Given the description of an element on the screen output the (x, y) to click on. 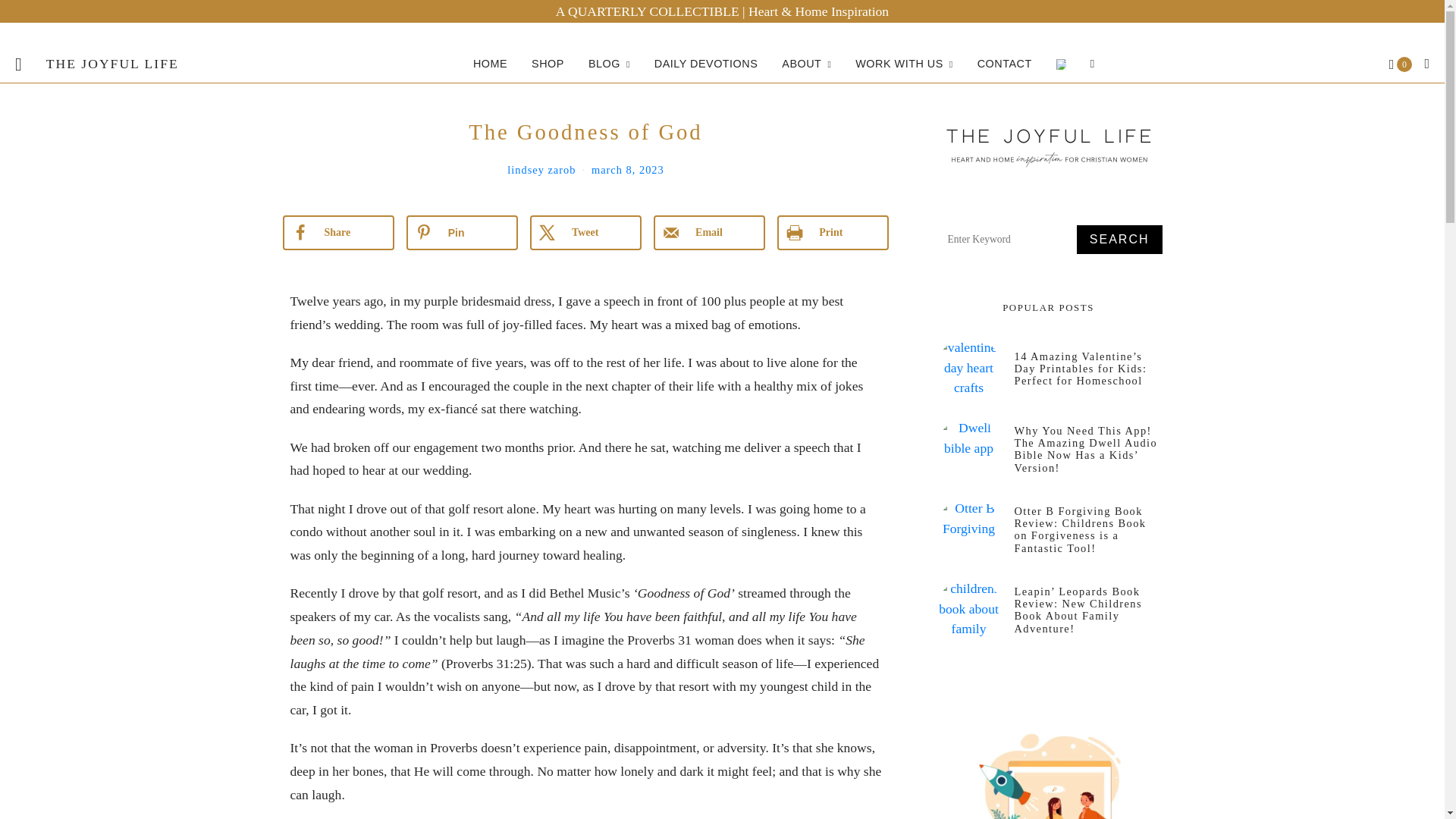
Share on Facebook (337, 232)
View all posts by Lindsey Zarob (540, 169)
Save to Pinterest (462, 232)
Print this webpage (832, 232)
Share on X (585, 232)
Send over email (709, 232)
View your shopping cart (1400, 63)
